Given the description of an element on the screen output the (x, y) to click on. 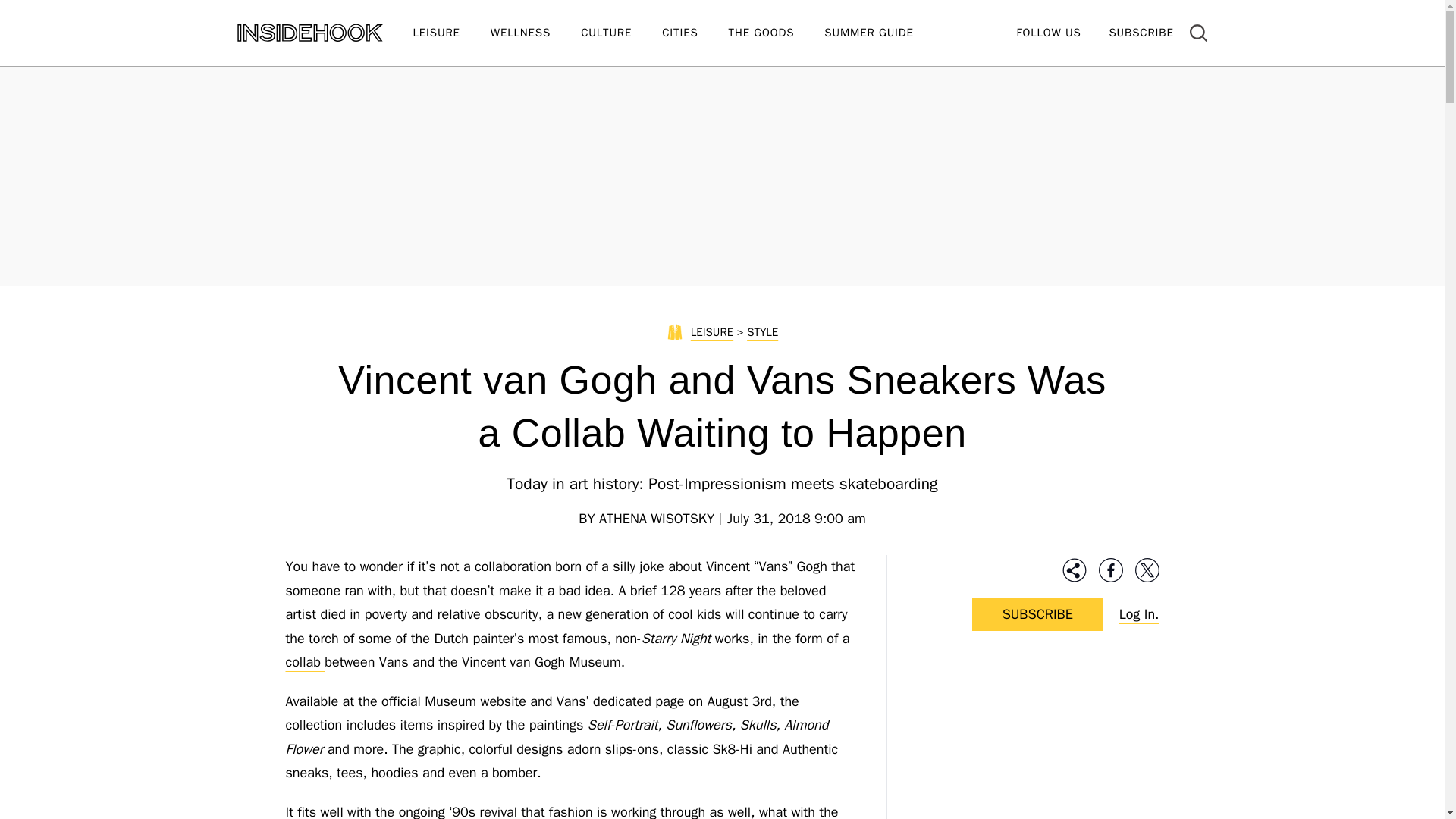
CULTURE (621, 32)
CITIES (695, 32)
3rd party ad content (1037, 743)
3rd party ad content (721, 174)
THE GOODS (777, 32)
FOLLOW US (1048, 32)
WELLNESS (535, 32)
LEISURE (450, 32)
SUBSCRIBE (1140, 32)
SUMMER GUIDE (883, 32)
